Given the description of an element on the screen output the (x, y) to click on. 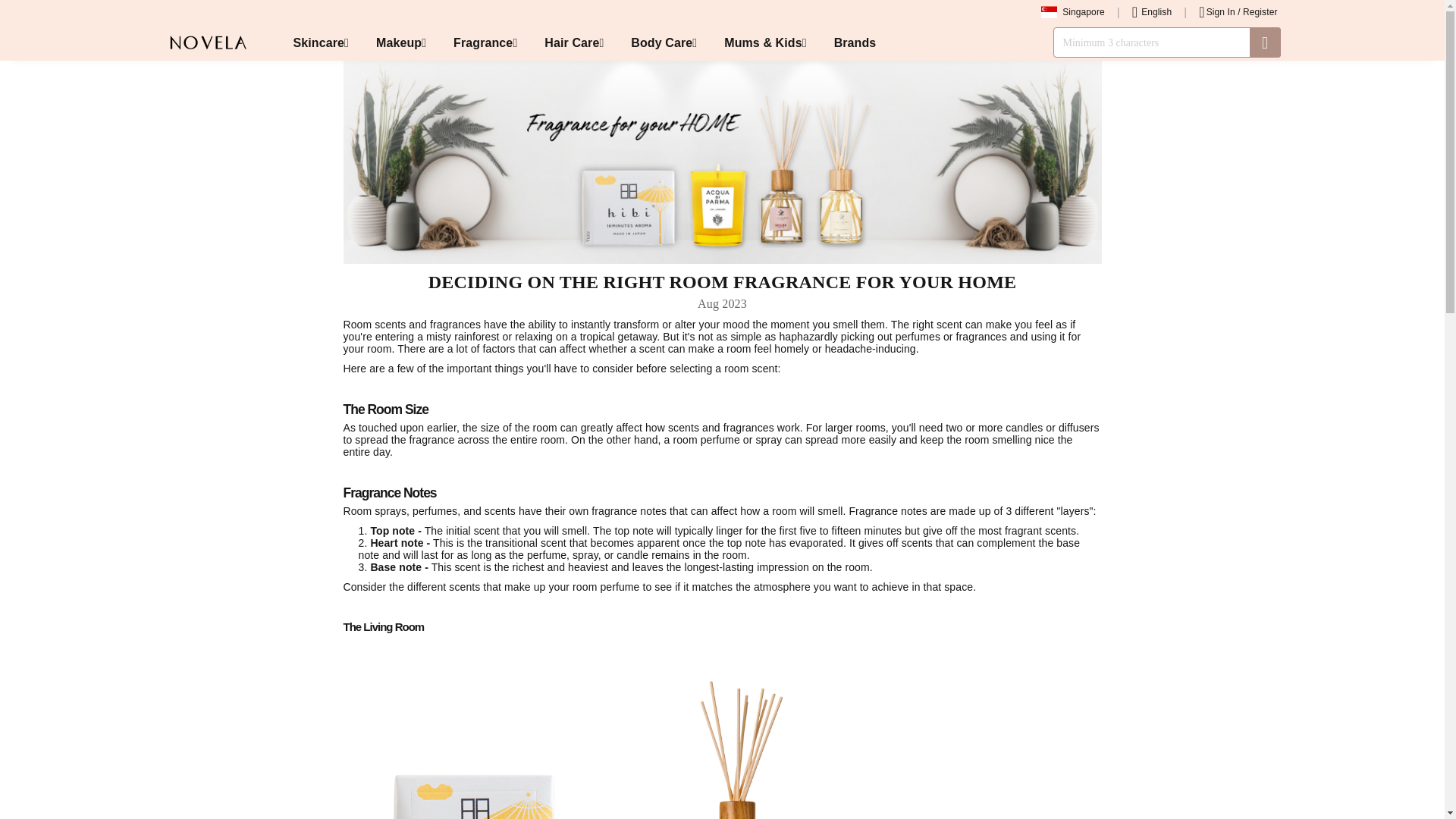
Fragrance (484, 42)
Sign In (1220, 11)
Skincare (320, 42)
Makeup (401, 42)
Register (1259, 11)
